Given the description of an element on the screen output the (x, y) to click on. 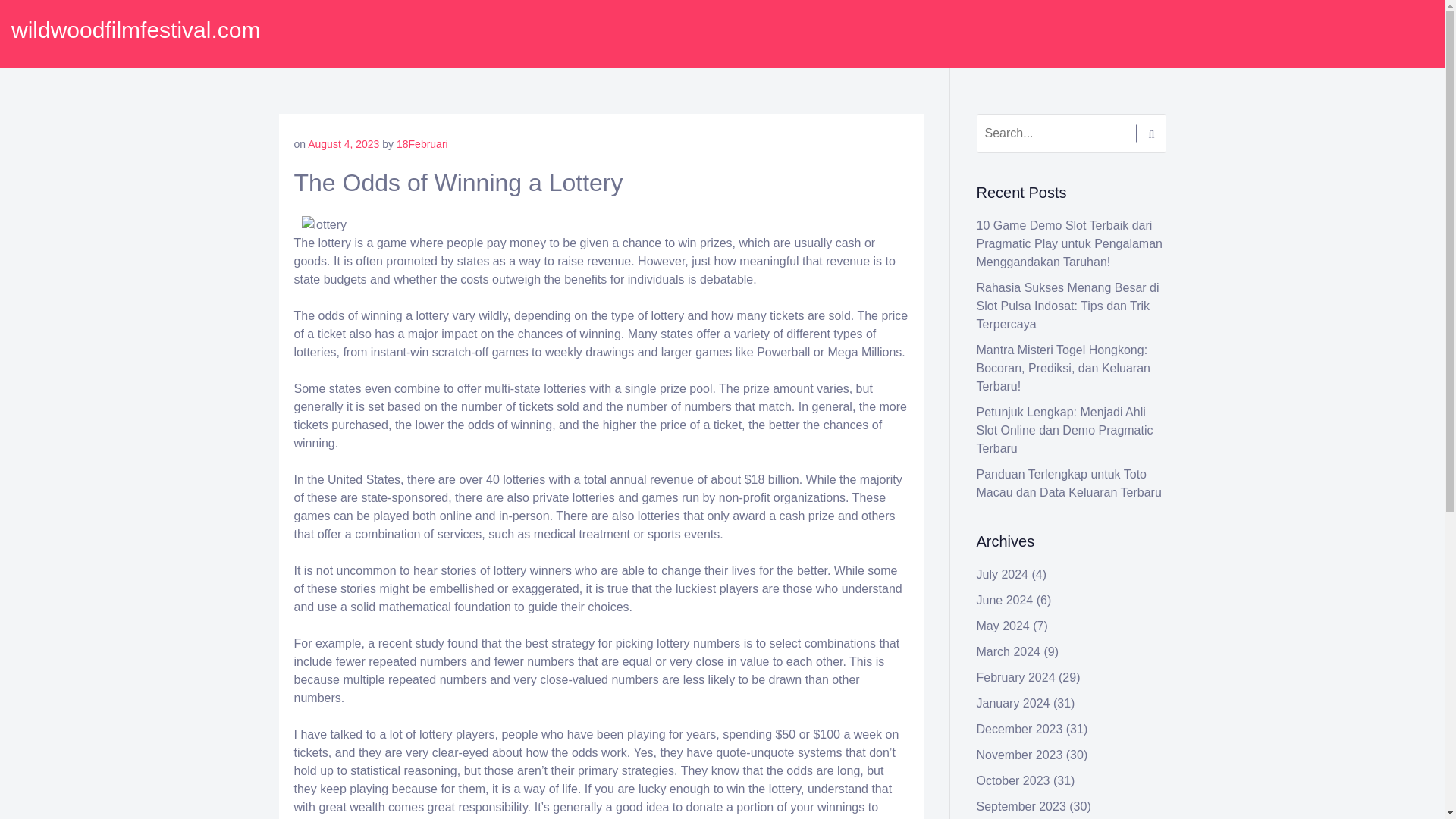
March 2024 (1008, 651)
July 2024 (1002, 574)
wildwoodfilmfestival.com (135, 29)
December 2023 (1019, 728)
October 2023 (1012, 780)
November 2023 (1019, 754)
January 2024 (1012, 703)
August 4, 2023 (342, 143)
18Februari (422, 143)
September 2023 (1020, 806)
May 2024 (1002, 625)
February 2024 (1015, 676)
